Given the description of an element on the screen output the (x, y) to click on. 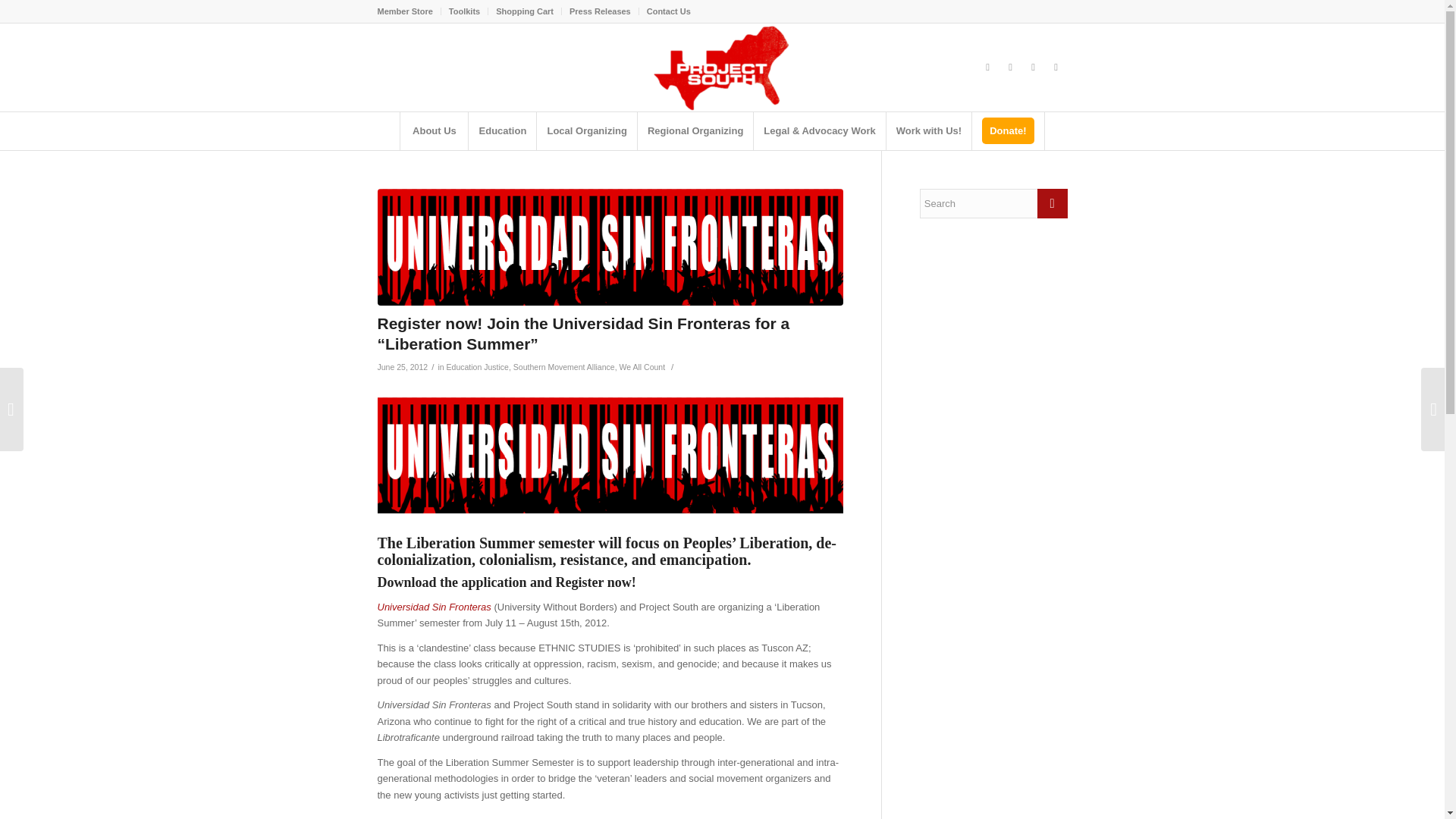
Shopping Cart (524, 11)
Twitter (987, 67)
unsif (610, 455)
Facebook (1033, 67)
Press Releases (599, 11)
Instagram (1056, 67)
Toolkits (464, 11)
Youtube (1010, 67)
Member Store (404, 11)
